Given the description of an element on the screen output the (x, y) to click on. 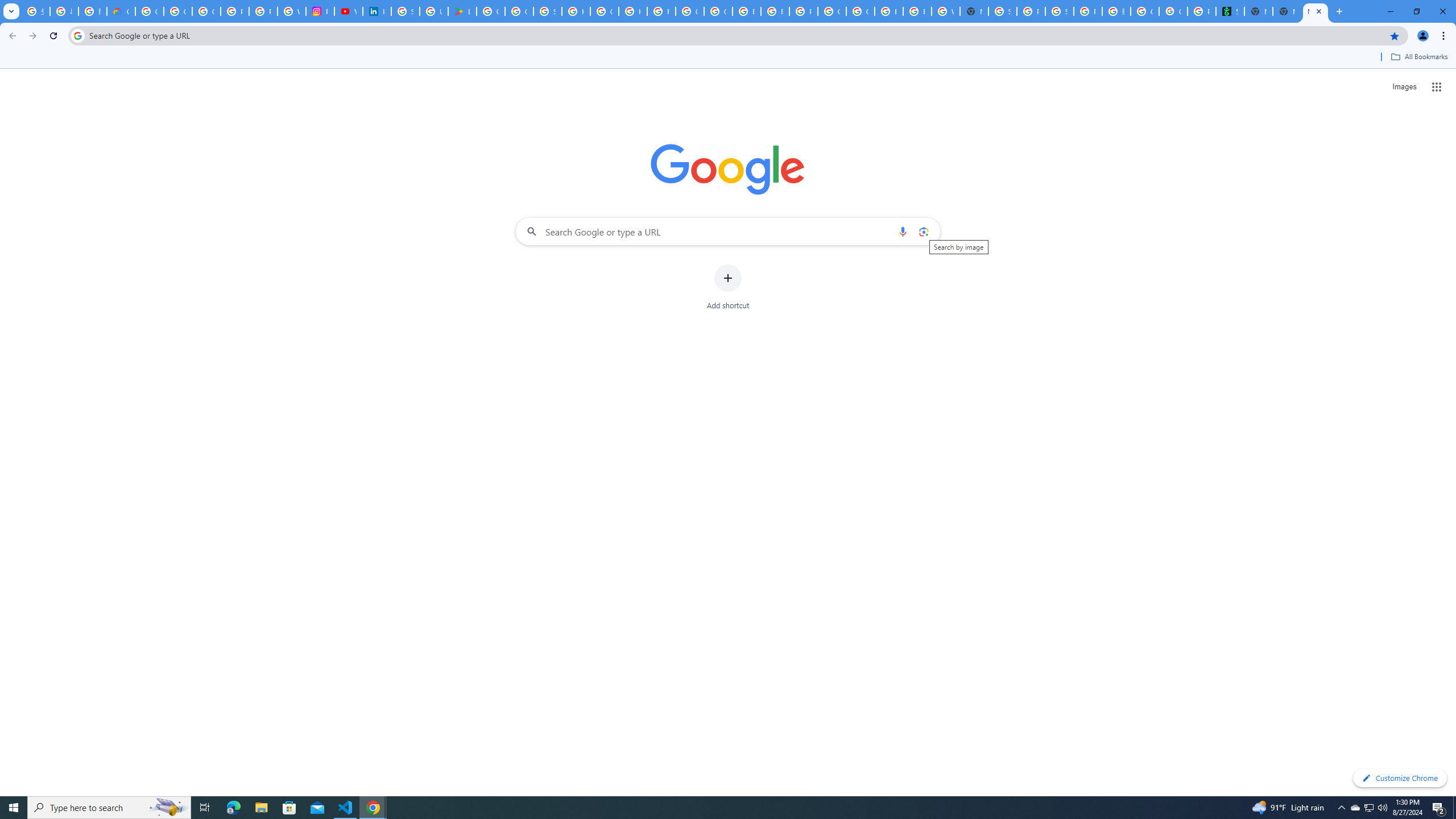
Privacy Help Center - Policies Help (263, 11)
Google apps (1436, 86)
YouTube Culture & Trends - On The Rise: Handcam Videos (348, 11)
Browse Chrome as a guest - Computer - Google Chrome Help (746, 11)
Address and search bar (735, 35)
New Tab (973, 11)
Browse Chrome as a guest - Computer - Google Chrome Help (774, 11)
Last Shelter: Survival - Apps on Google Play (461, 11)
